Given the description of an element on the screen output the (x, y) to click on. 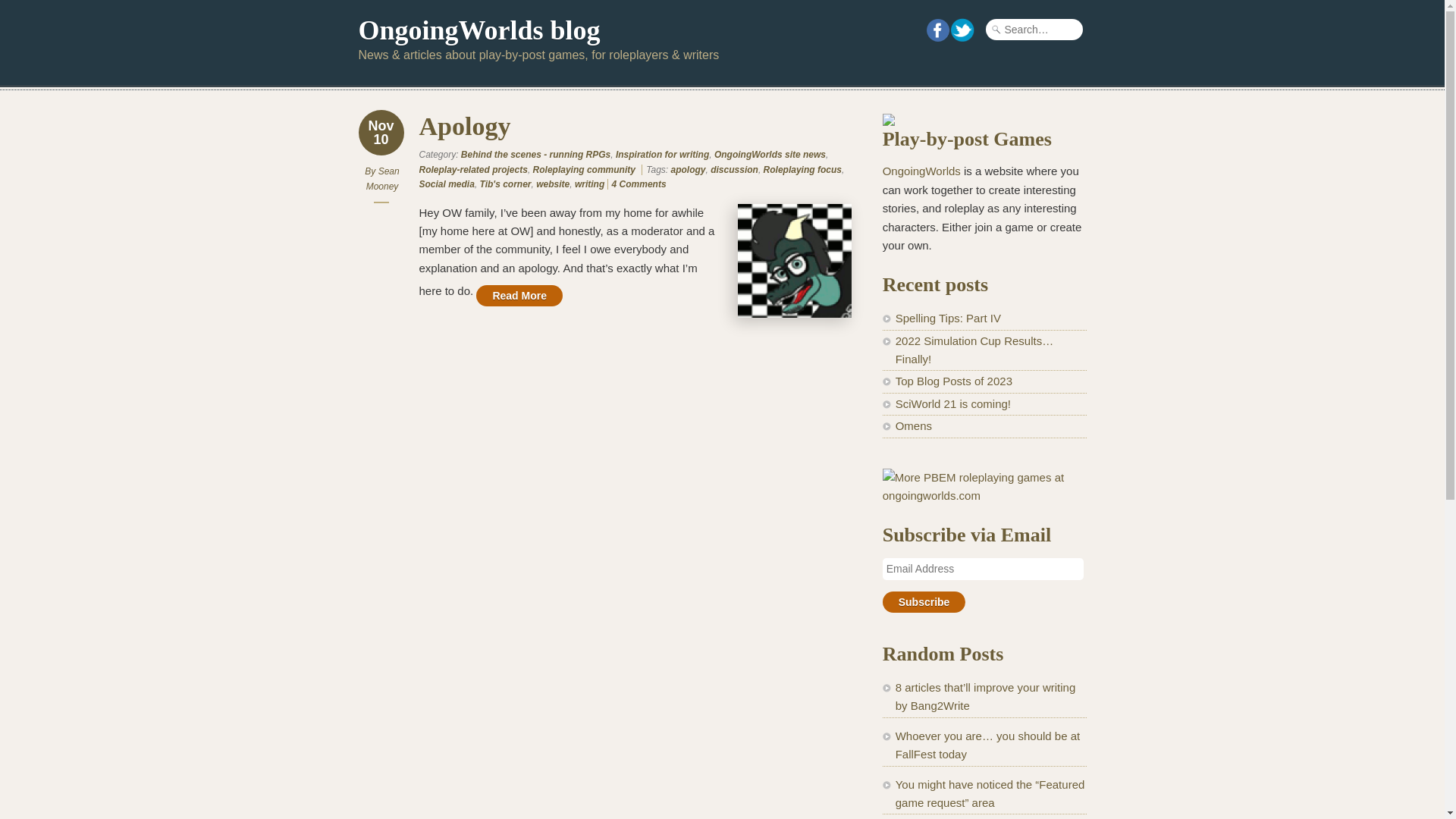
OngoingWorlds blog (478, 30)
Roleplay-related projects (473, 168)
OngoingWorlds site news (769, 154)
Behind the scenes - running RPGs (535, 154)
Sean Mooney (382, 178)
SciWorld 21 is coming! (952, 403)
website (552, 184)
Omens (913, 425)
Subscribe (924, 601)
Posts by Sean Mooney (382, 178)
